Given the description of an element on the screen output the (x, y) to click on. 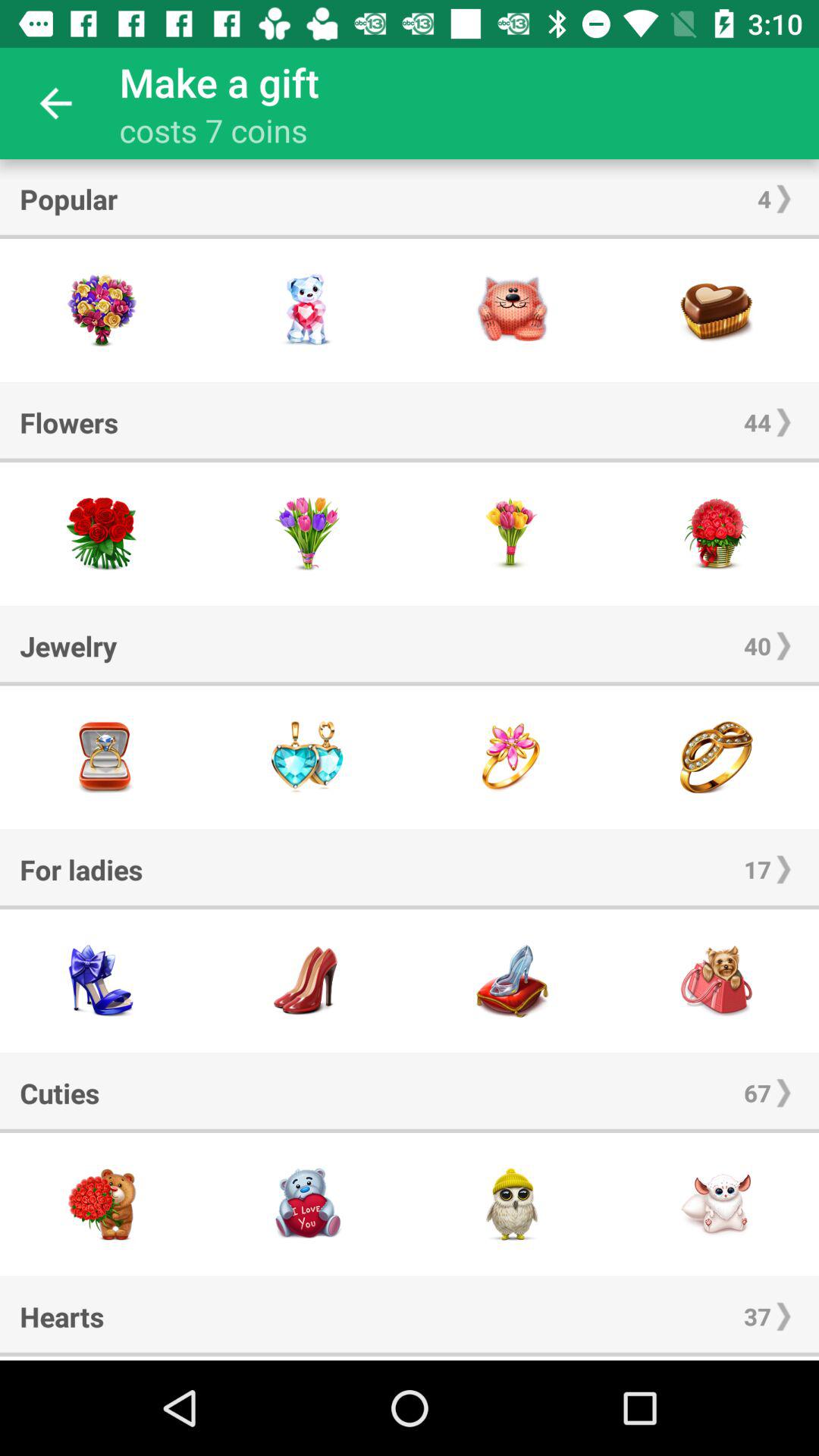
press the icon below the cuties (409, 1130)
